Given the description of an element on the screen output the (x, y) to click on. 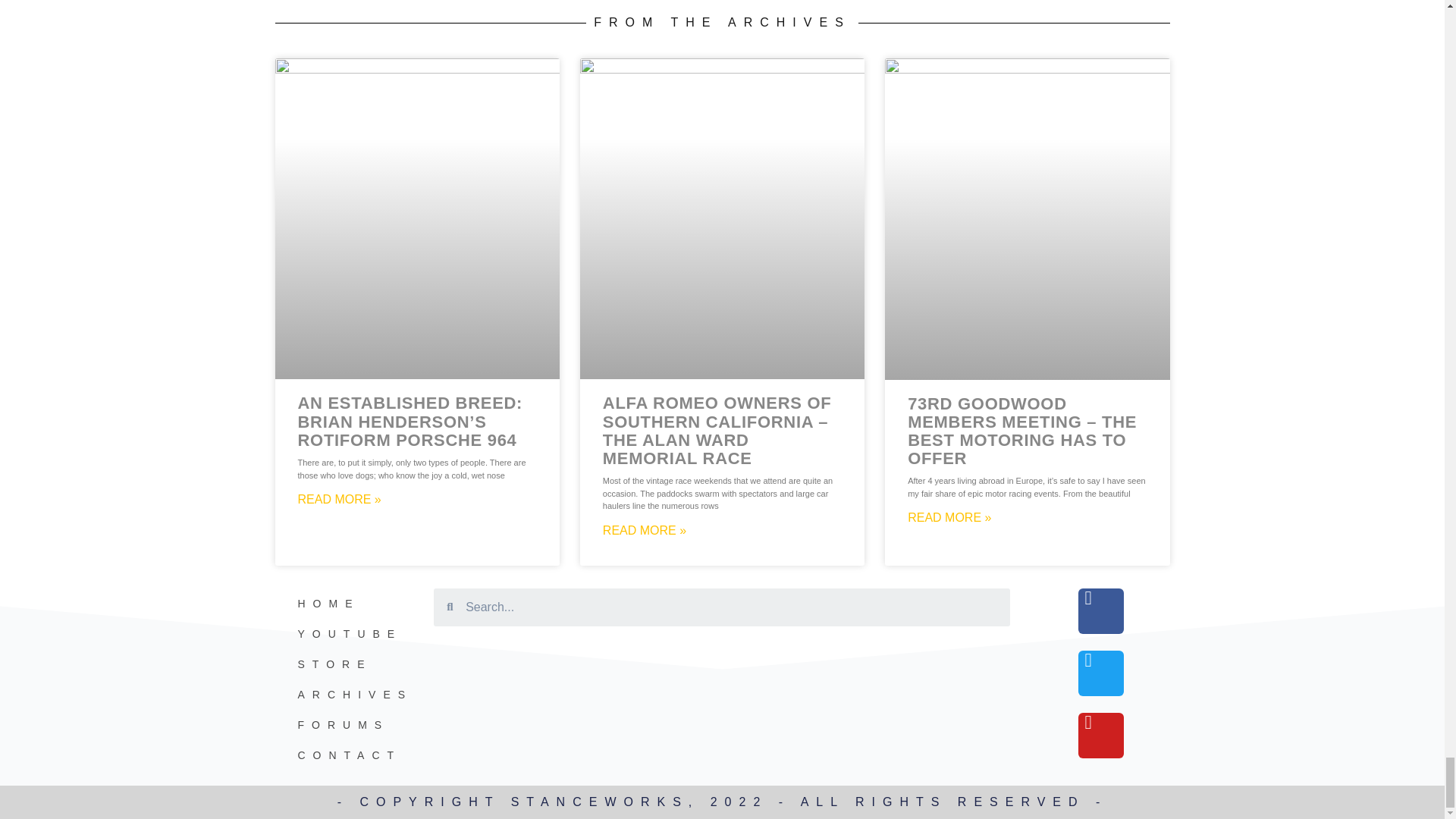
YOUTUBE (342, 634)
CONTACT (342, 755)
FORUMS (342, 725)
HOME (342, 603)
Search (731, 607)
ARCHIVES (342, 694)
STORE (342, 664)
